Given the description of an element on the screen output the (x, y) to click on. 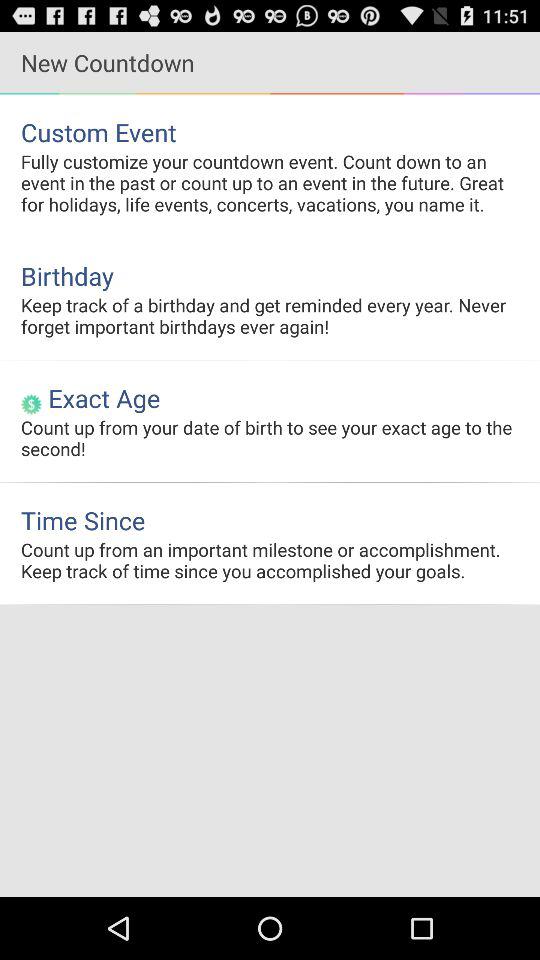
turn on the icon below the new countdown (270, 132)
